Given the description of an element on the screen output the (x, y) to click on. 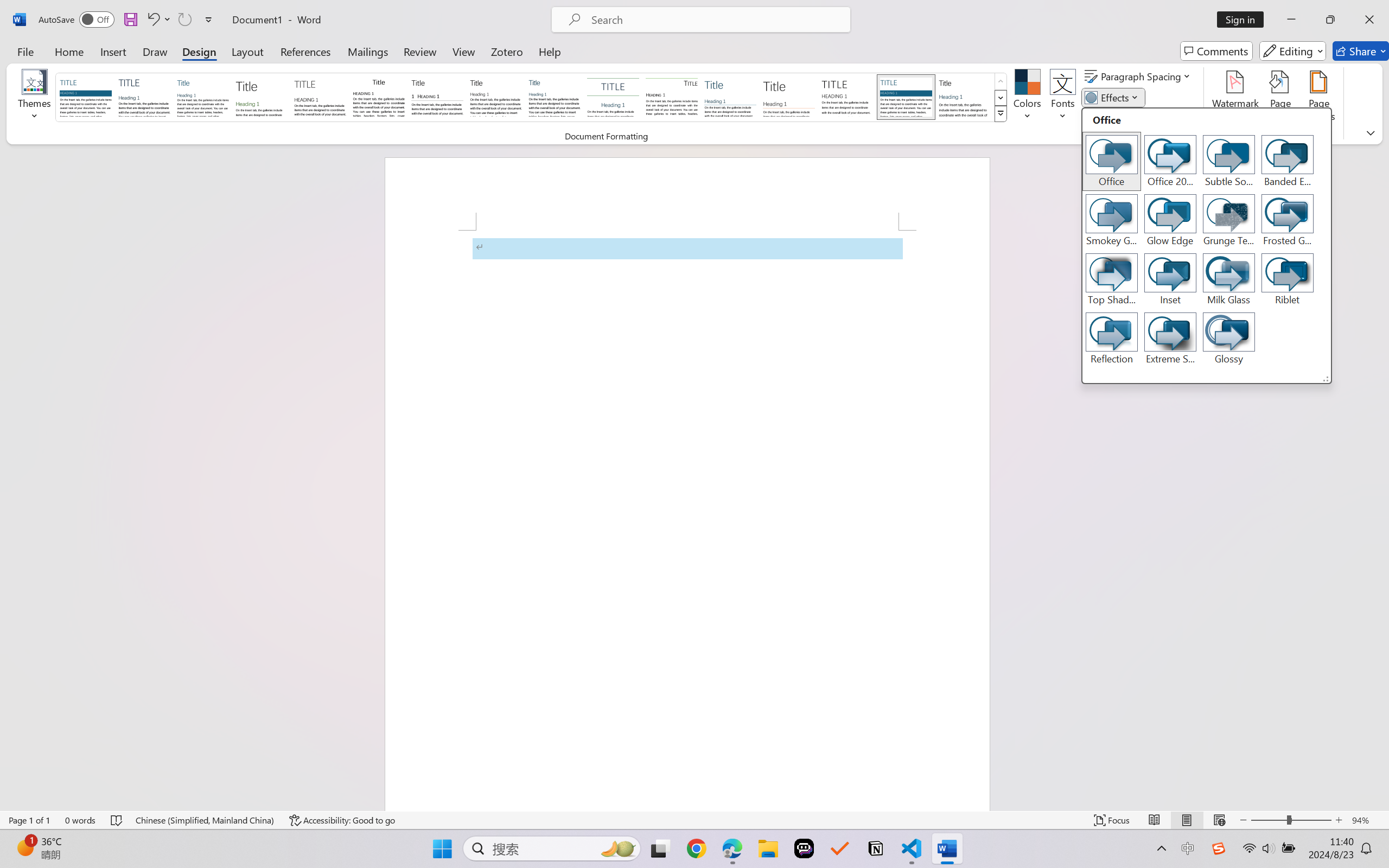
Document (85, 96)
Basic (Stylish) (260, 96)
